Given the description of an element on the screen output the (x, y) to click on. 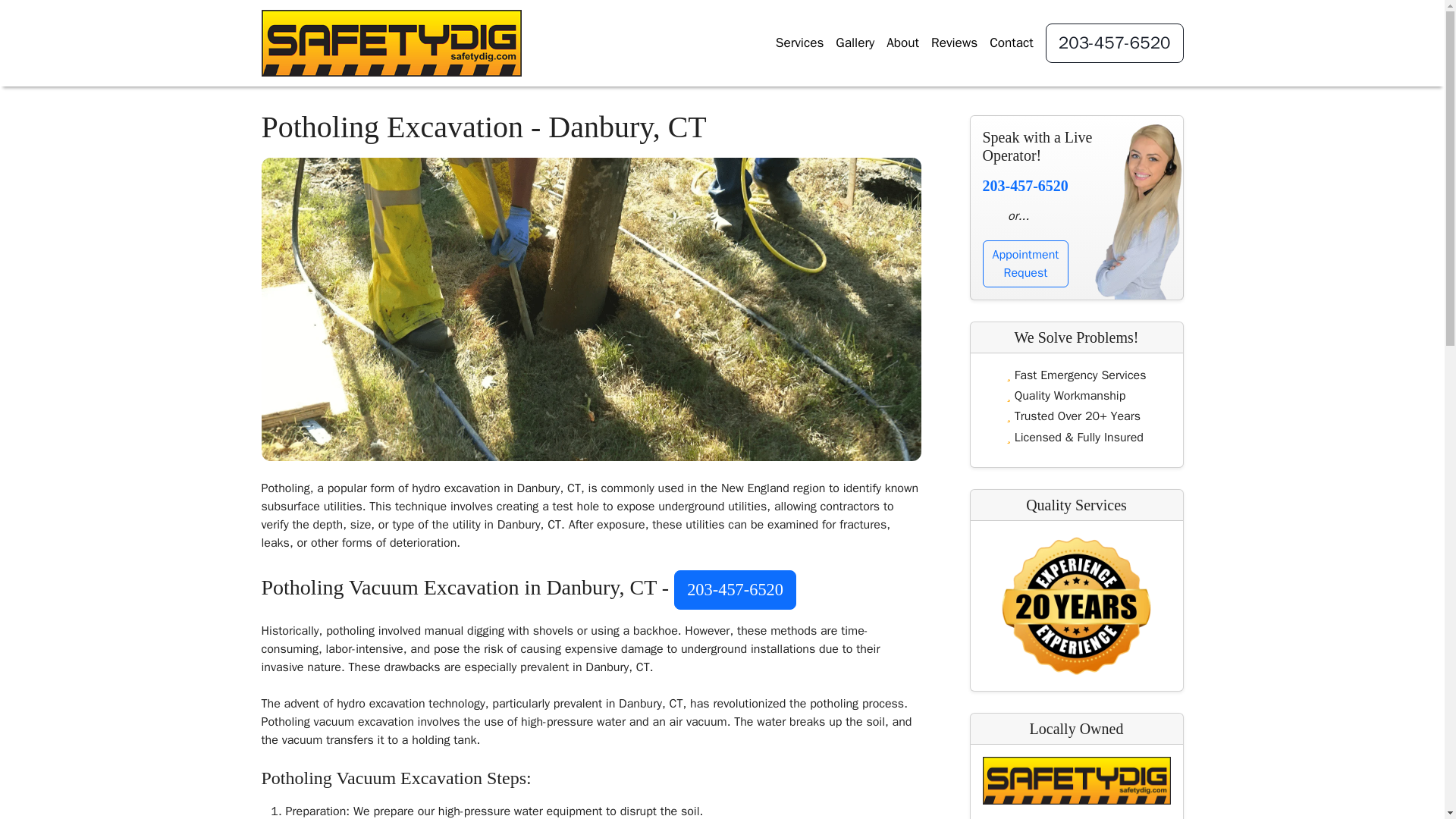
203-457-6520 (735, 589)
Contact (1011, 42)
203-457-6520 (1114, 43)
Gallery (854, 42)
203-457-6520 (1025, 263)
Reviews (1114, 43)
203-457-6520 (976, 43)
Services (954, 42)
About (1025, 185)
